Given the description of an element on the screen output the (x, y) to click on. 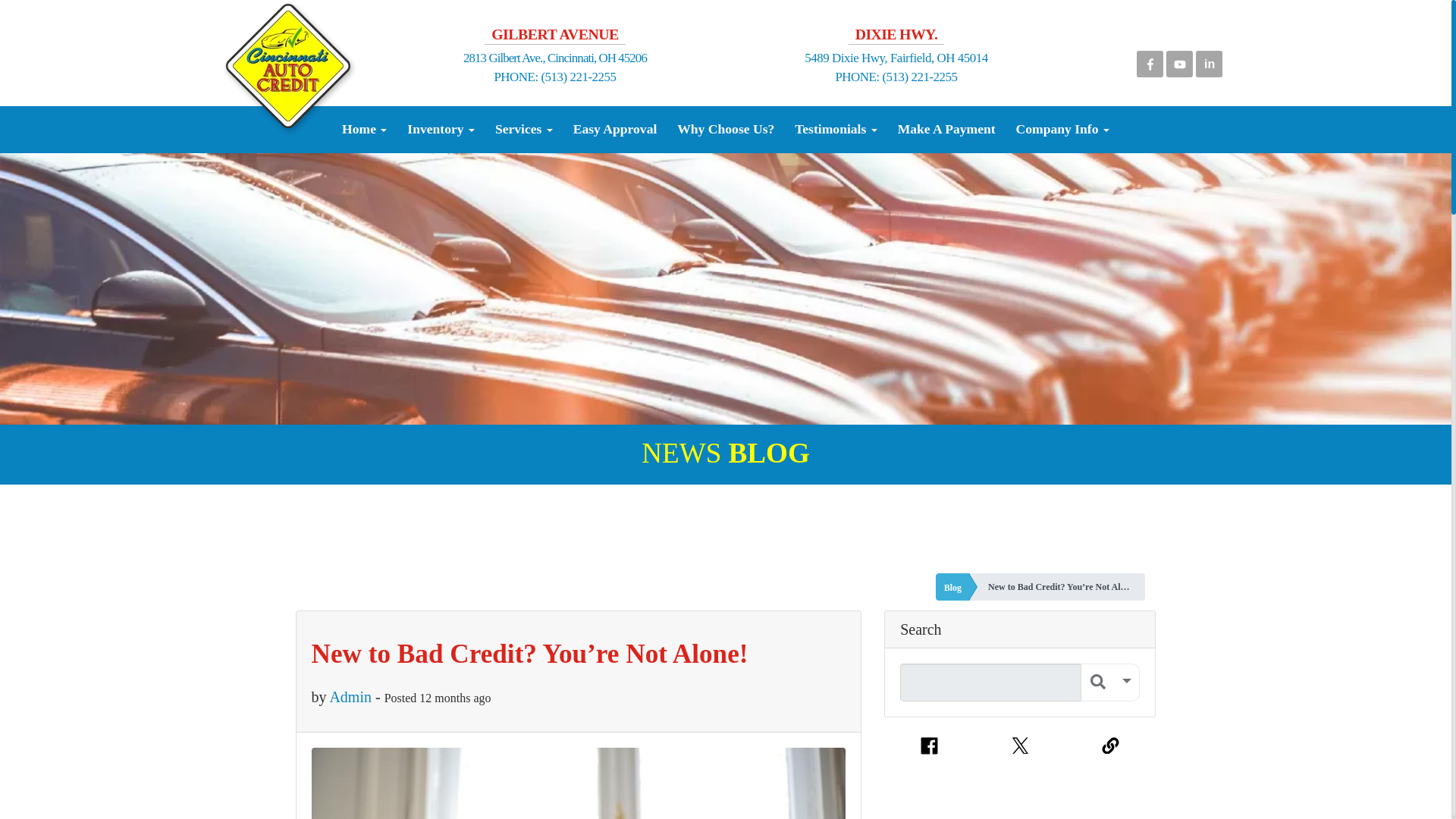
Inventory (440, 129)
Home (364, 129)
2813 Gilbert Ave., Cincinnati, OH 45206 (554, 57)
in (1209, 60)
5489 Dixie Hwy, Fairfield, OH 45014 (896, 57)
